Given the description of an element on the screen output the (x, y) to click on. 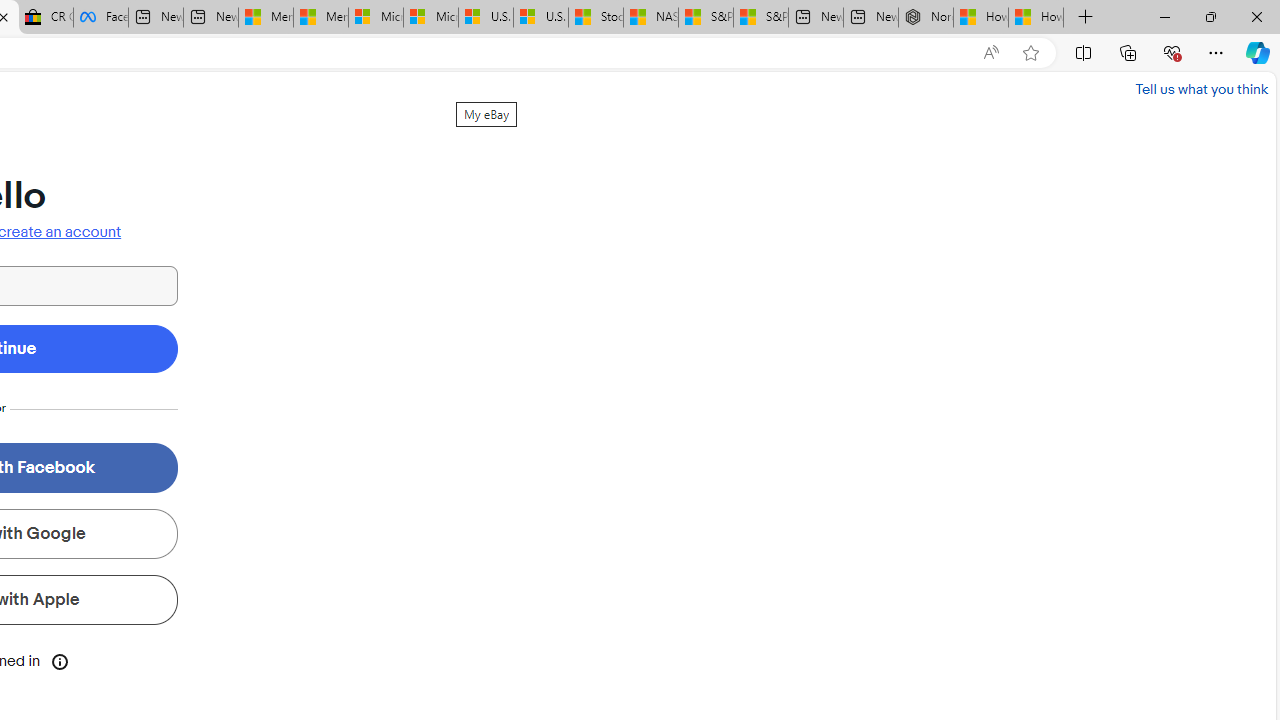
Class: icon-btn tooltip__host icon-btn--transparent (59, 660)
